Given the description of an element on the screen output the (x, y) to click on. 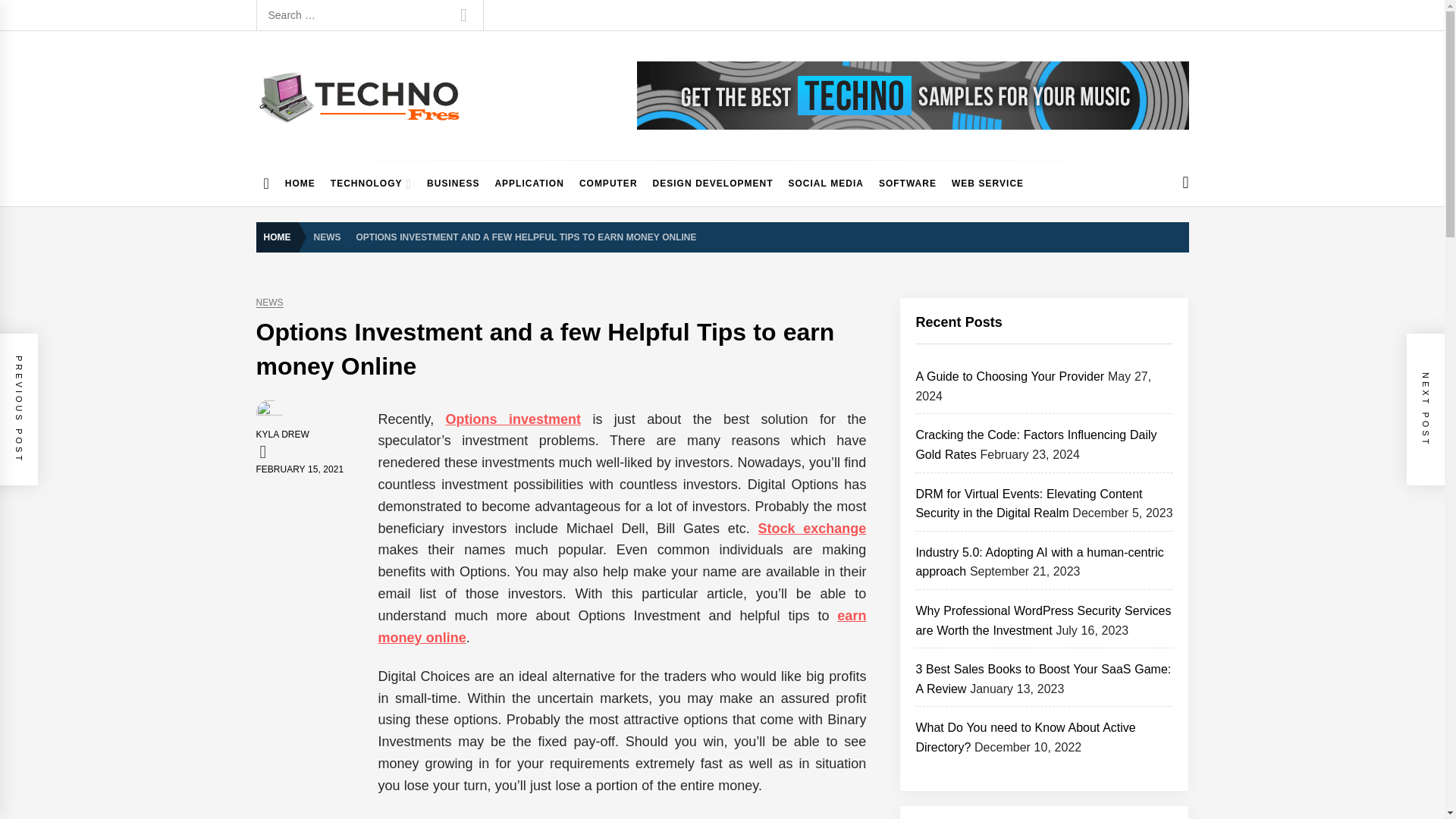
WEB SERVICE (986, 183)
SOCIAL MEDIA (825, 183)
Industry 5.0: Adopting AI with a human-centric approach (1039, 562)
FEBRUARY 15, 2021 (299, 469)
BUSINESS (452, 183)
APPLICATION (528, 183)
Search (462, 15)
Search (462, 15)
earn money online (621, 626)
